Given the description of an element on the screen output the (x, y) to click on. 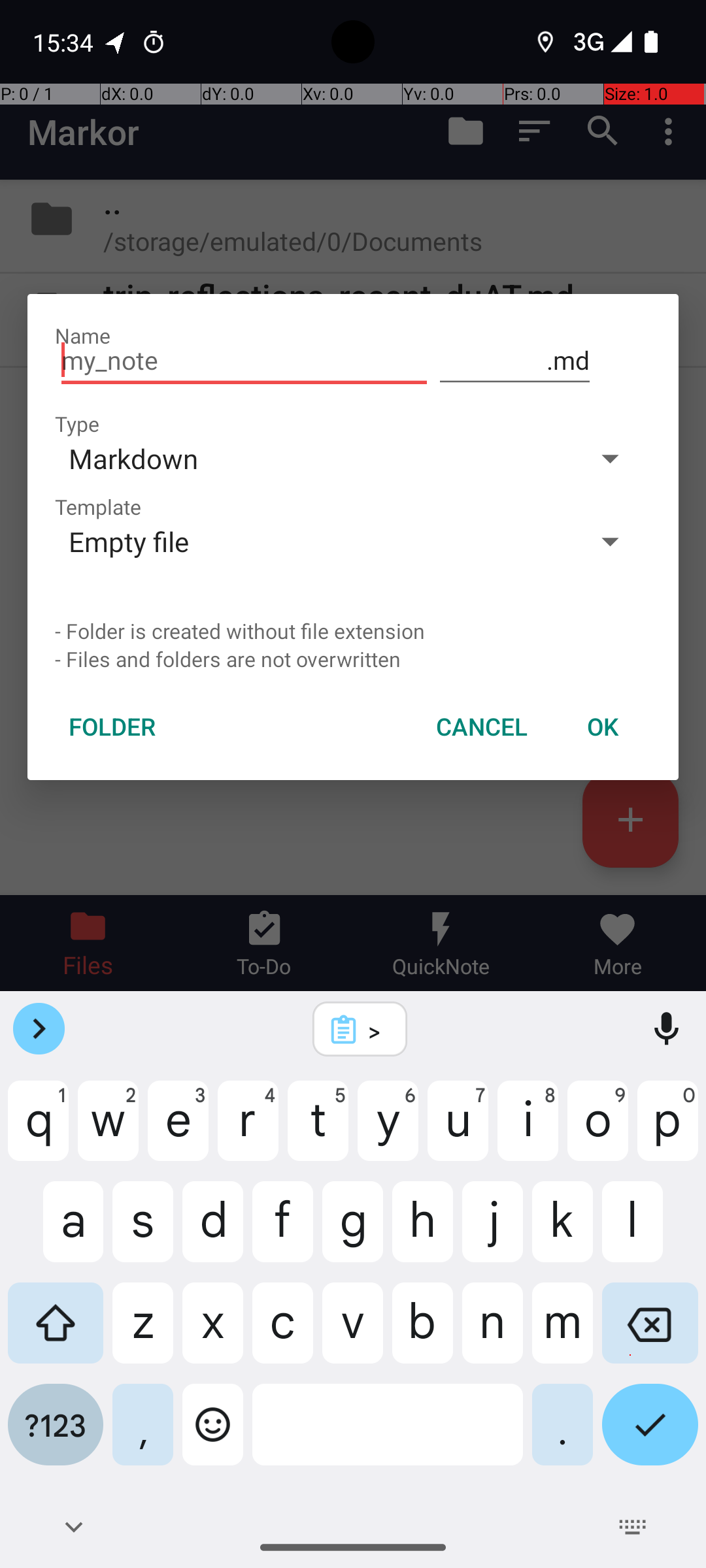
>  Element type: android.widget.TextView (377, 1029)
